Given the description of an element on the screen output the (x, y) to click on. 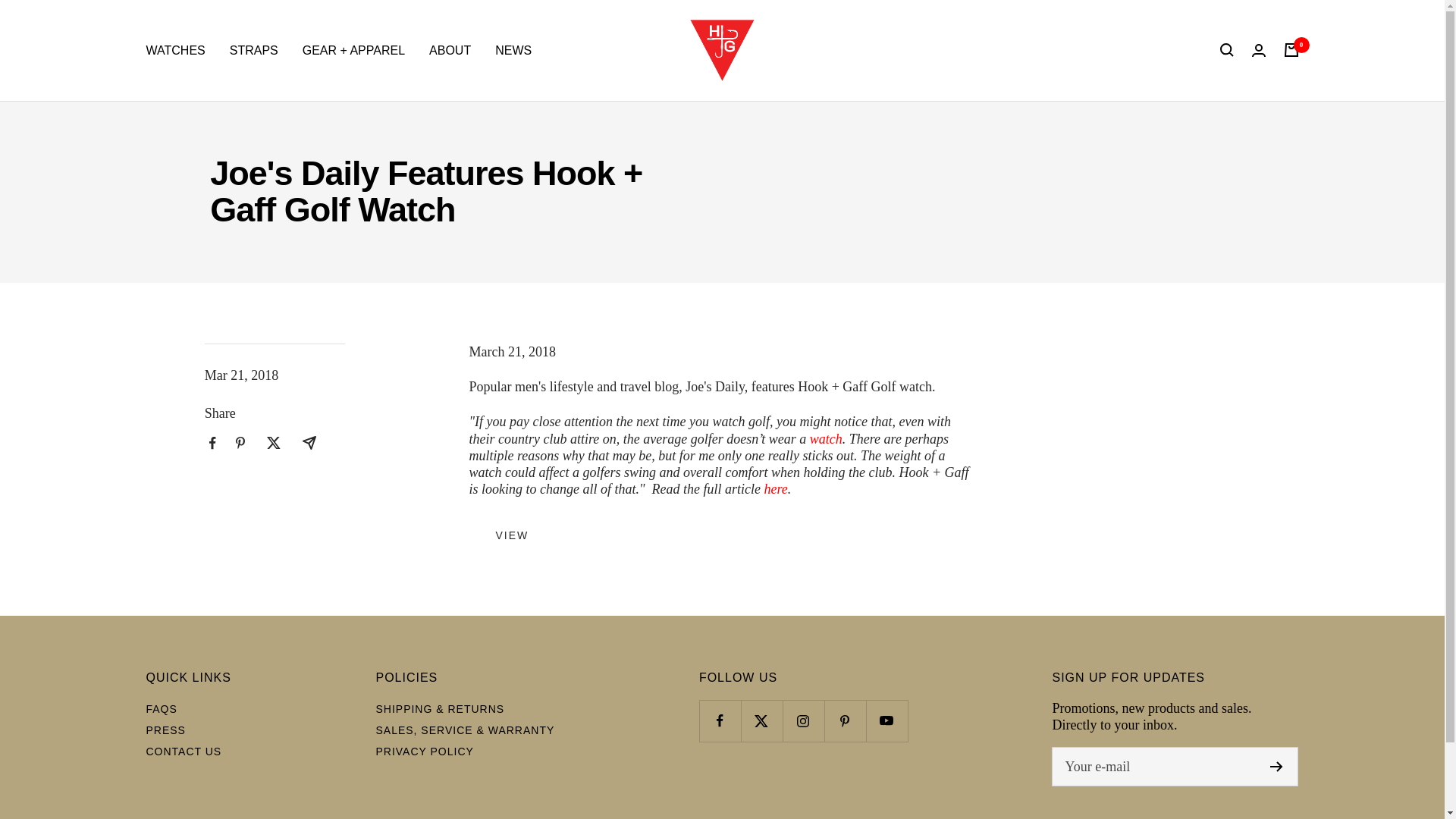
ABOUT (449, 50)
here (775, 488)
NEWS (513, 50)
PRIVACY POLICY (424, 751)
PRESS (164, 730)
0 (1290, 49)
FAQS (160, 708)
watch (826, 437)
View (511, 535)
Register (1275, 766)
